Given the description of an element on the screen output the (x, y) to click on. 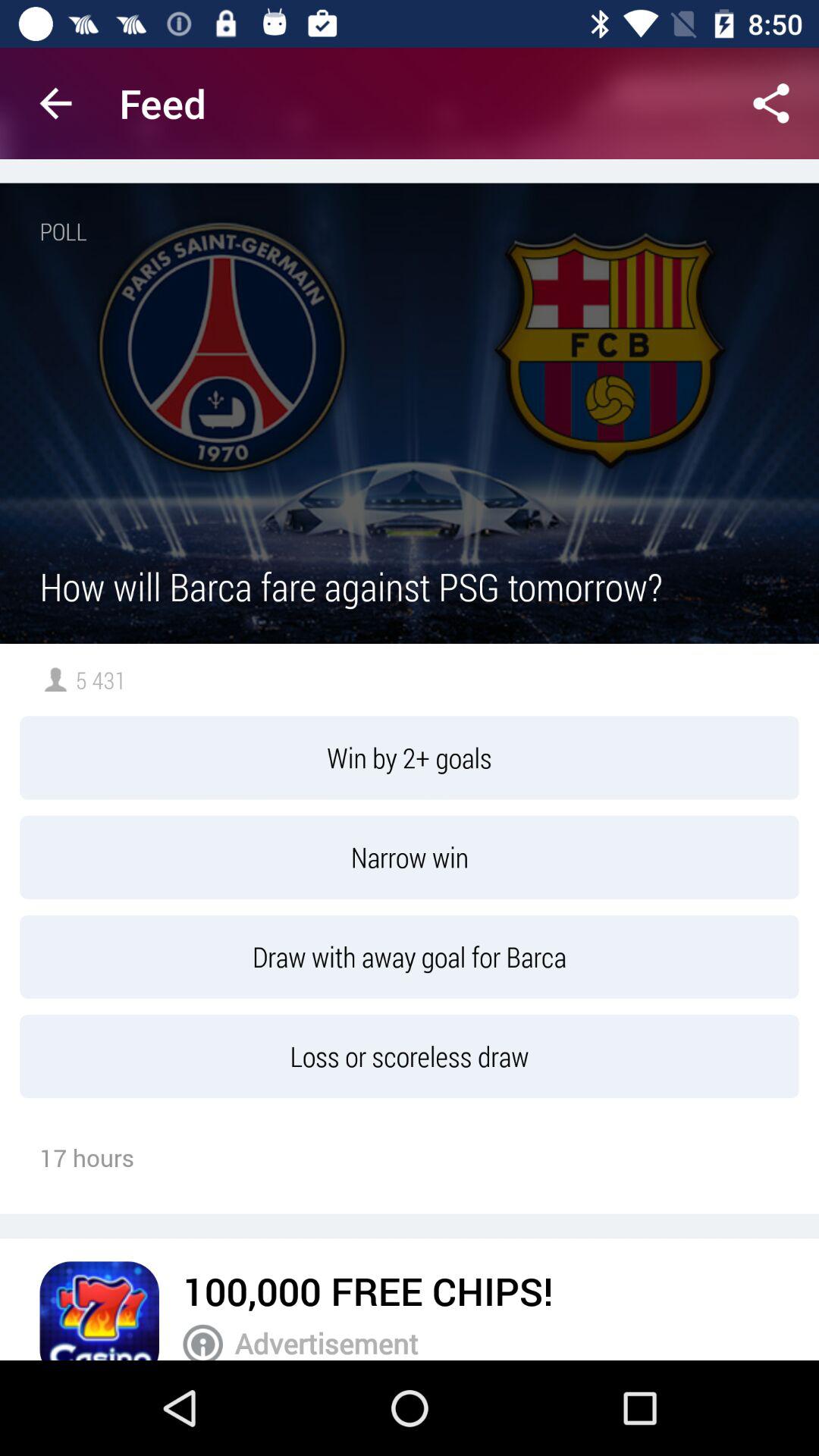
choose icon below win by 2 item (409, 857)
